Given the description of an element on the screen output the (x, y) to click on. 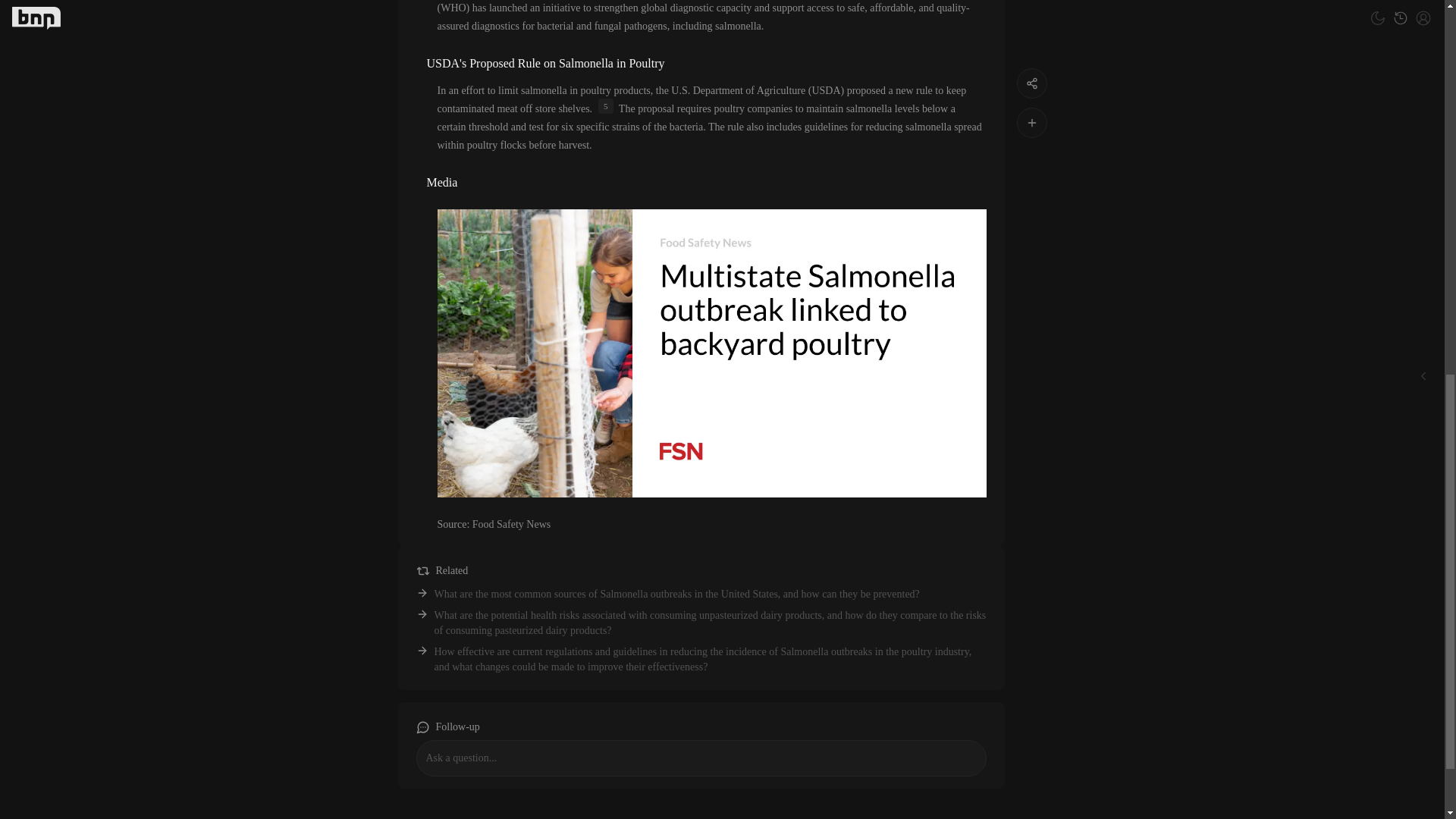
5 (605, 105)
Food Safety News (510, 523)
